Given the description of an element on the screen output the (x, y) to click on. 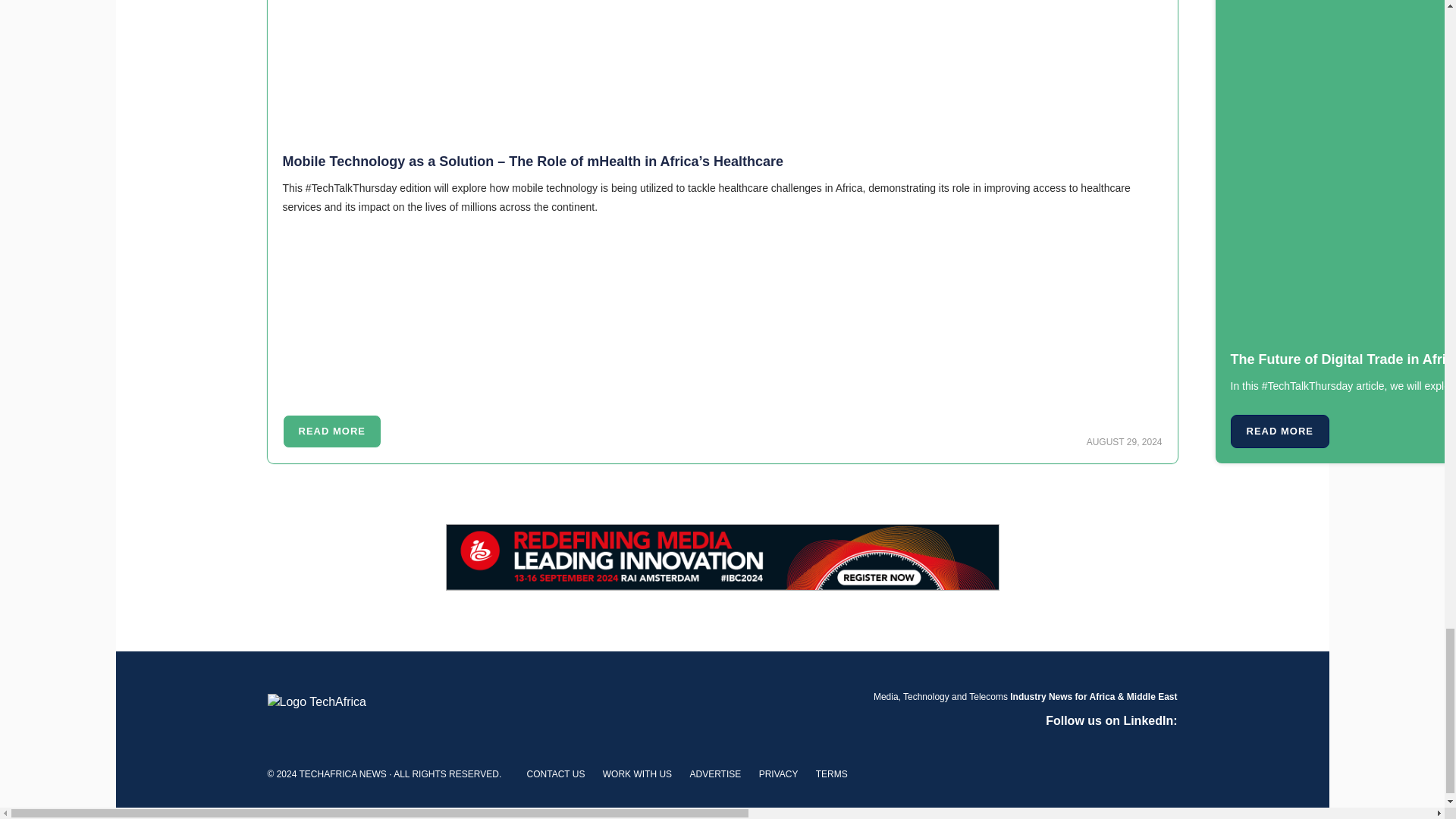
CONTACT US (556, 774)
PRIVACY (777, 774)
ADVERTISE (714, 774)
TERMS (831, 774)
WORK WITH US (636, 774)
